Given the description of an element on the screen output the (x, y) to click on. 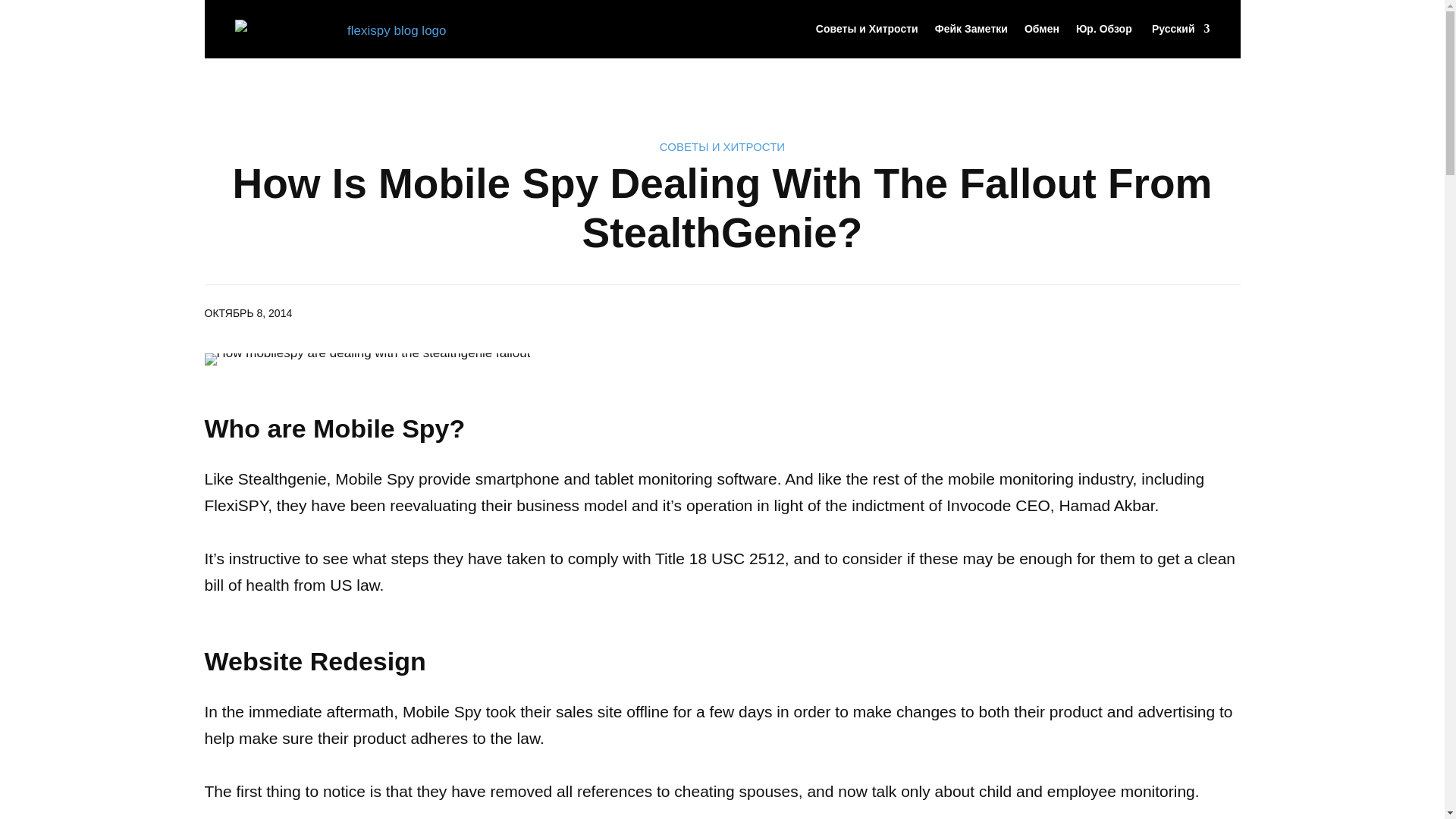
How mobilespy are dealing with the stealthgenie fallout (368, 358)
